Given the description of an element on the screen output the (x, y) to click on. 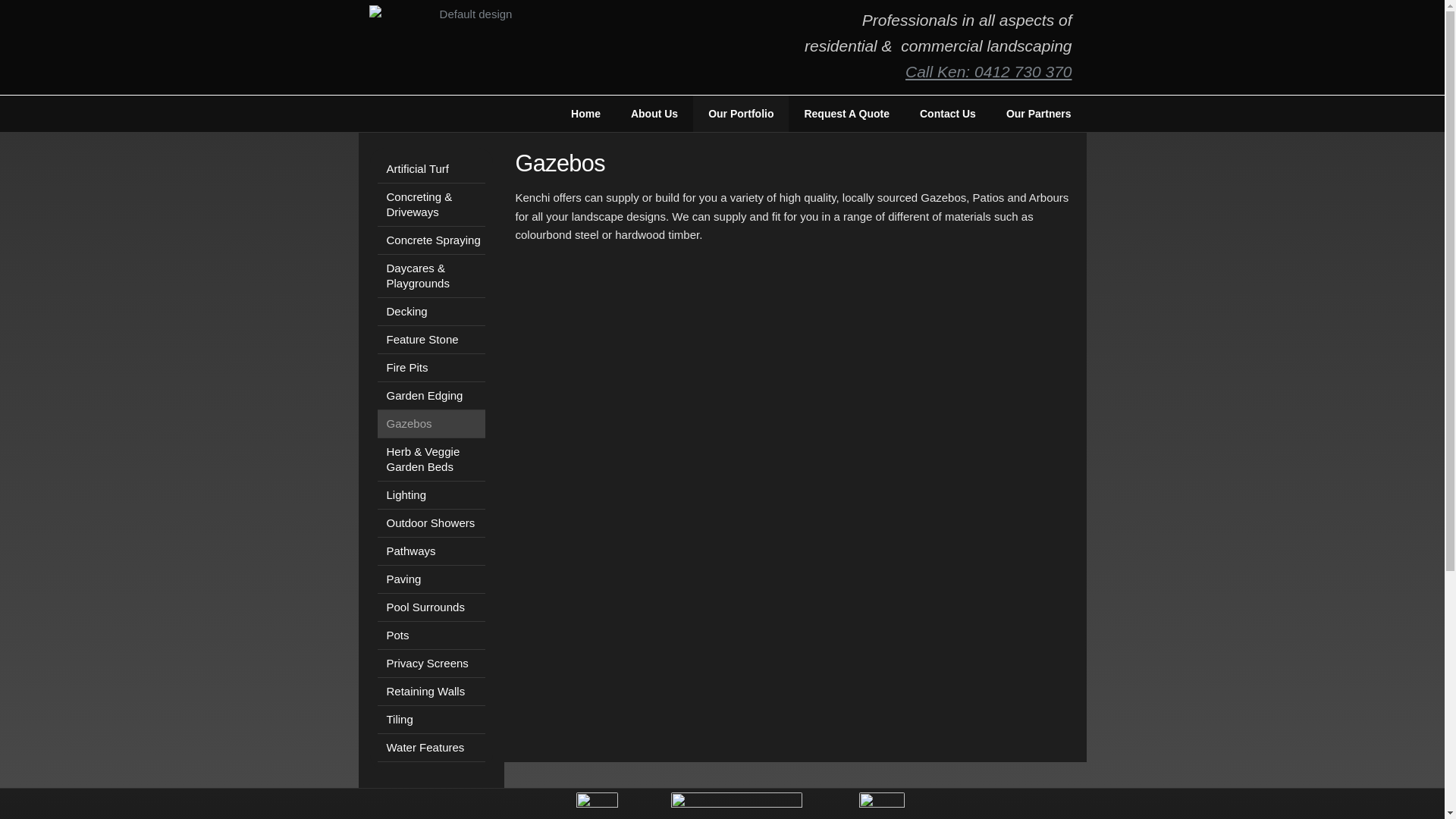
Our Partners Element type: text (1038, 113)
About Us Element type: text (654, 113)
Garden Edging Element type: text (431, 396)
Retaining Walls Element type: text (431, 691)
Tiling Element type: text (431, 720)
Lighting Element type: text (431, 495)
Fire Pits Element type: text (431, 368)
Pool Surrounds Element type: text (431, 607)
Decking Element type: text (431, 312)
Request A Quote Element type: text (846, 113)
Privacy Screens Element type: text (431, 663)
Water Features Element type: text (431, 748)
Pathways Element type: text (431, 551)
Gazebos Element type: text (431, 424)
Pots Element type: text (431, 635)
Contact Us Element type: text (947, 113)
Feature Stone Element type: text (431, 340)
Concreting & Driveways Element type: text (431, 204)
Artificial Turf Element type: text (431, 169)
Daycares & Playgrounds Element type: text (431, 276)
Our Portfolio Element type: text (740, 113)
Outdoor Showers Element type: text (431, 523)
Call Ken: 0412 730 370 Element type: text (988, 71)
Paving Element type: text (431, 579)
Home Element type: text (585, 113)
Concrete Spraying Element type: text (431, 240)
Herb & Veggie Garden Beds Element type: text (431, 459)
